Given the description of an element on the screen output the (x, y) to click on. 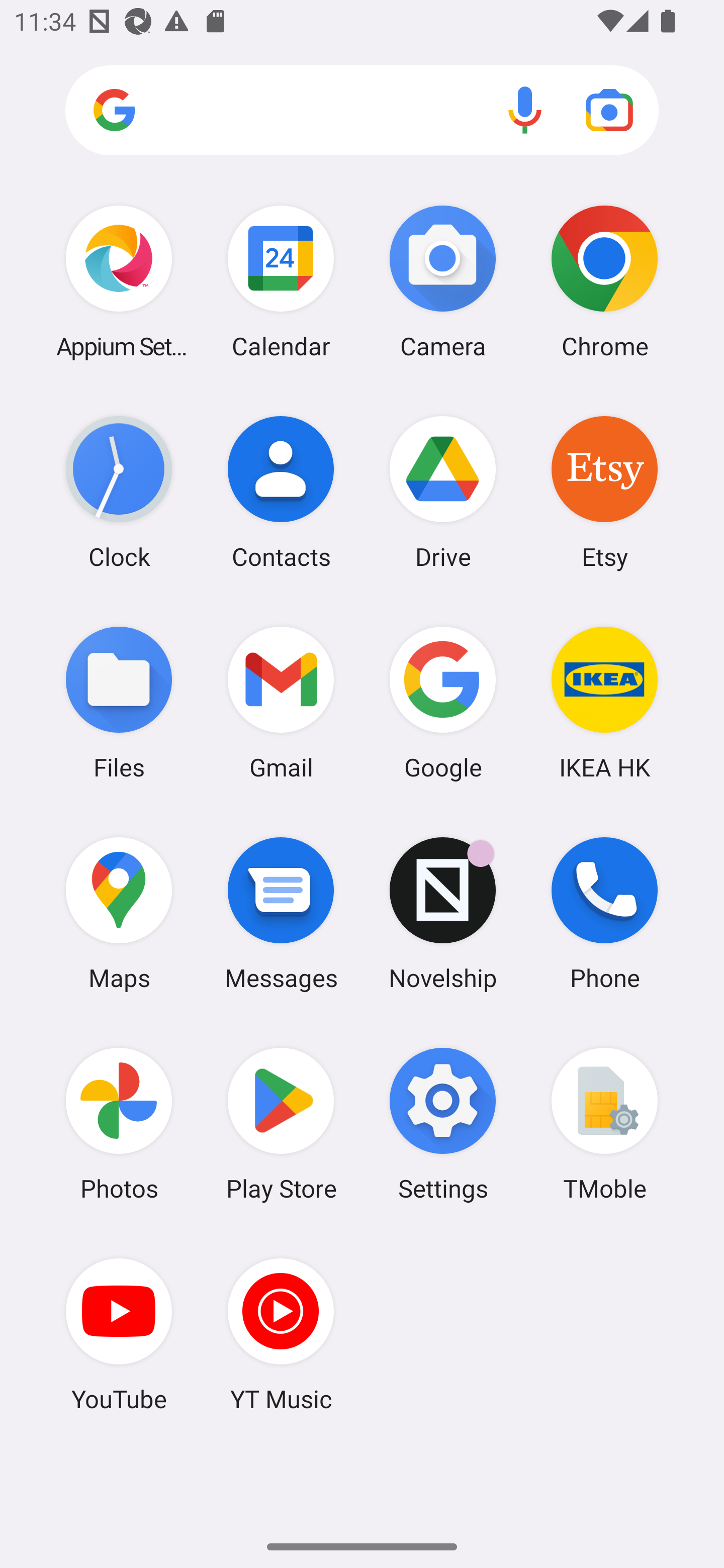
Search apps, web and more (361, 110)
Voice search (524, 109)
Google Lens (608, 109)
Appium Settings (118, 281)
Calendar (280, 281)
Camera (443, 281)
Chrome (604, 281)
Clock (118, 492)
Contacts (280, 492)
Drive (443, 492)
Etsy (604, 492)
Files (118, 702)
Gmail (280, 702)
Google (443, 702)
IKEA HK (604, 702)
Maps (118, 913)
Messages (280, 913)
Novelship Novelship has 2 notifications (443, 913)
Phone (604, 913)
Photos (118, 1124)
Play Store (280, 1124)
Settings (443, 1124)
TMoble (604, 1124)
YouTube (118, 1334)
YT Music (280, 1334)
